Given the description of an element on the screen output the (x, y) to click on. 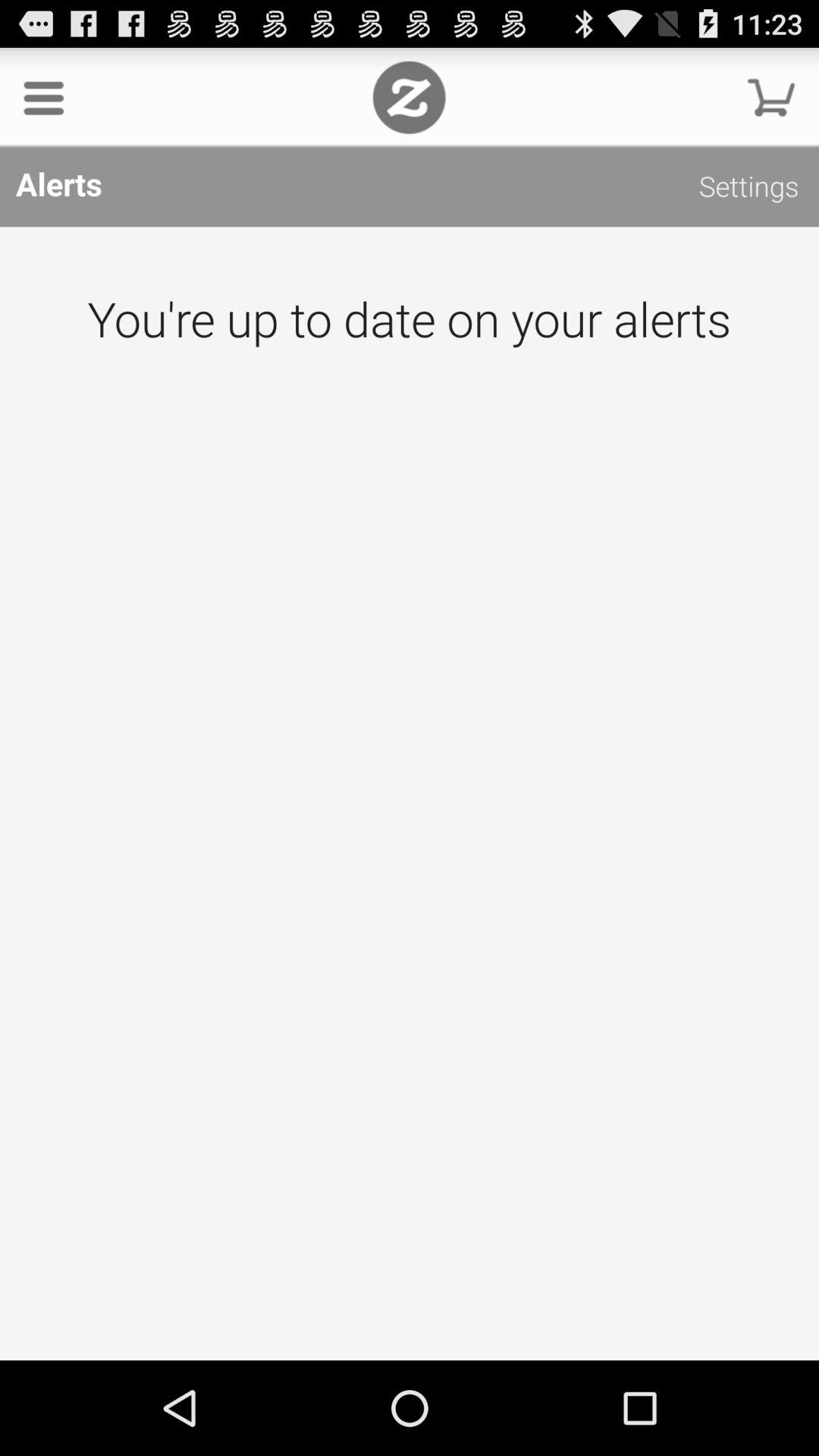
turn on the icon next to the settings item (408, 97)
